Given the description of an element on the screen output the (x, y) to click on. 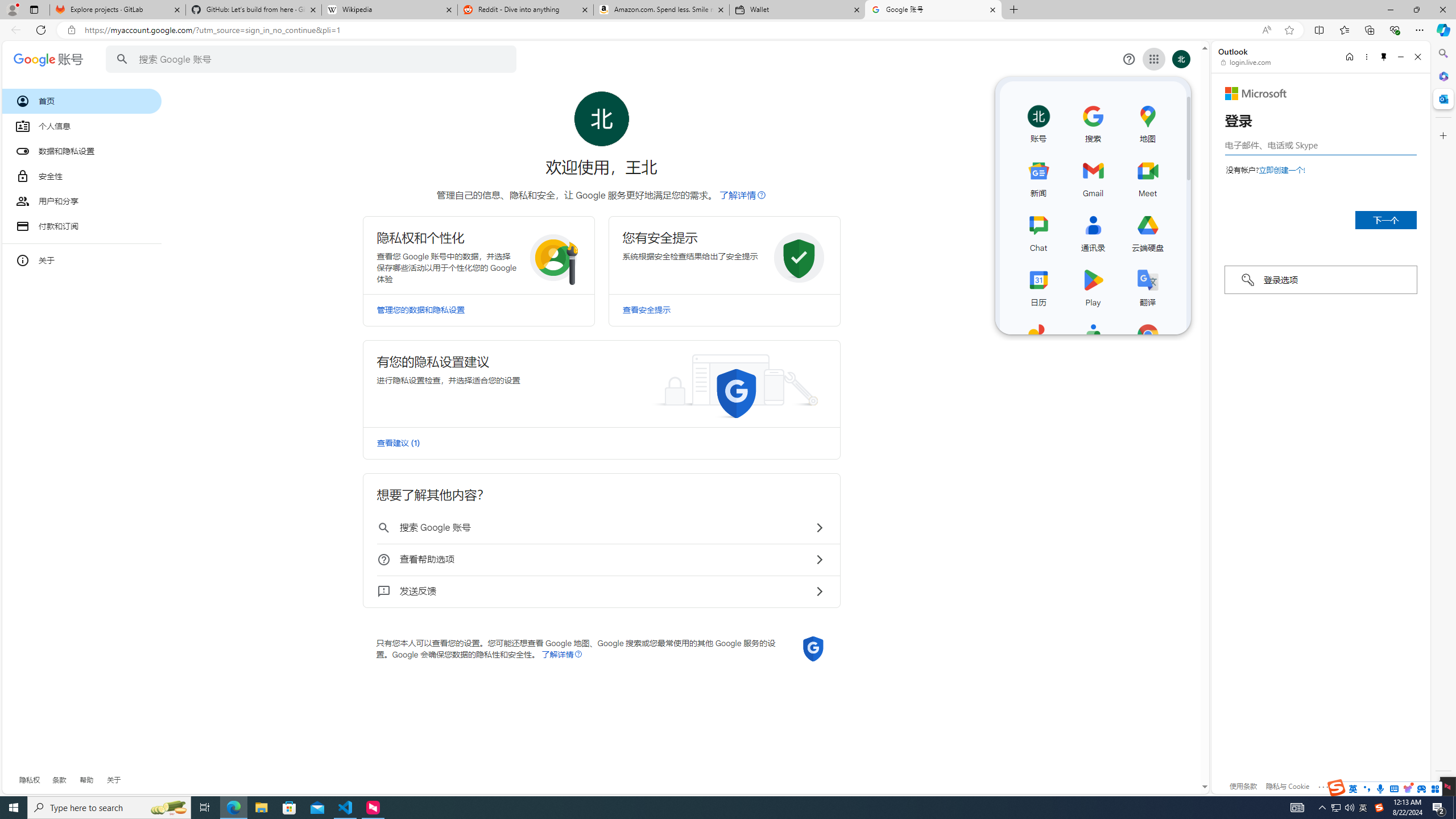
Chrome (1147, 340)
